Given the description of an element on the screen output the (x, y) to click on. 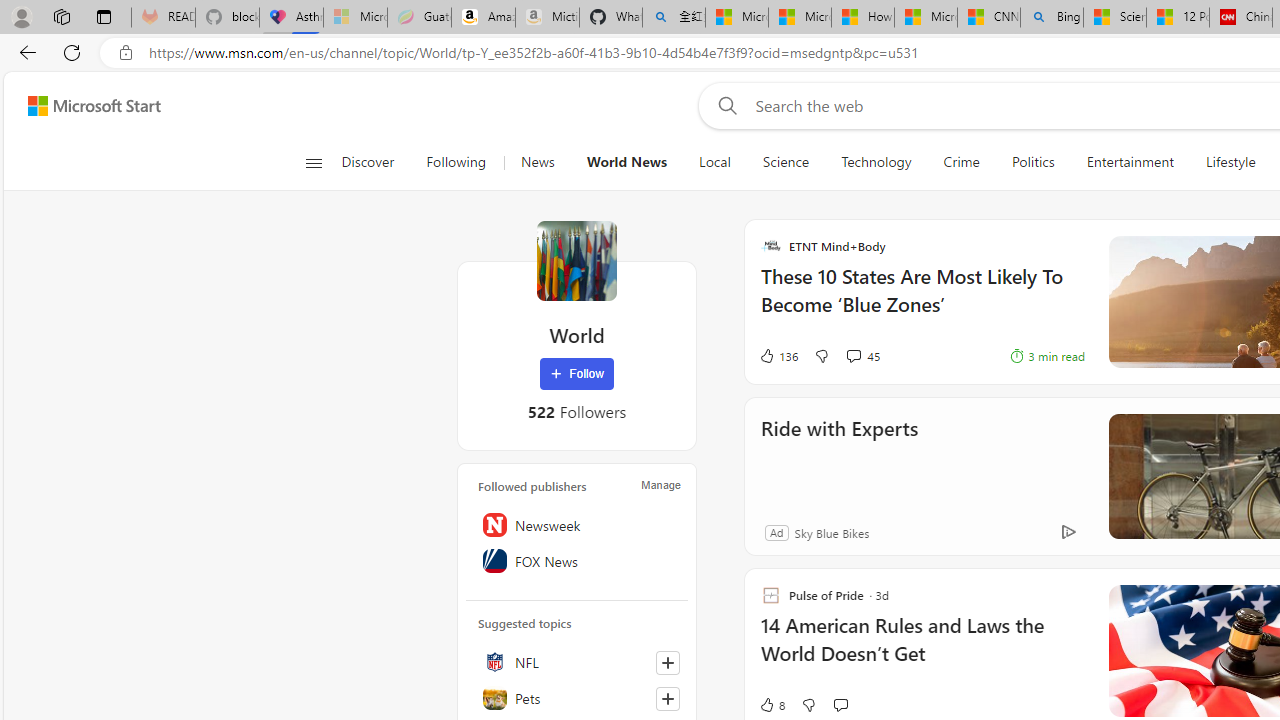
Follow this topic (667, 698)
NFL (577, 661)
12 Popular Science Lies that Must be Corrected (1177, 17)
FOX News (577, 561)
